Given the description of an element on the screen output the (x, y) to click on. 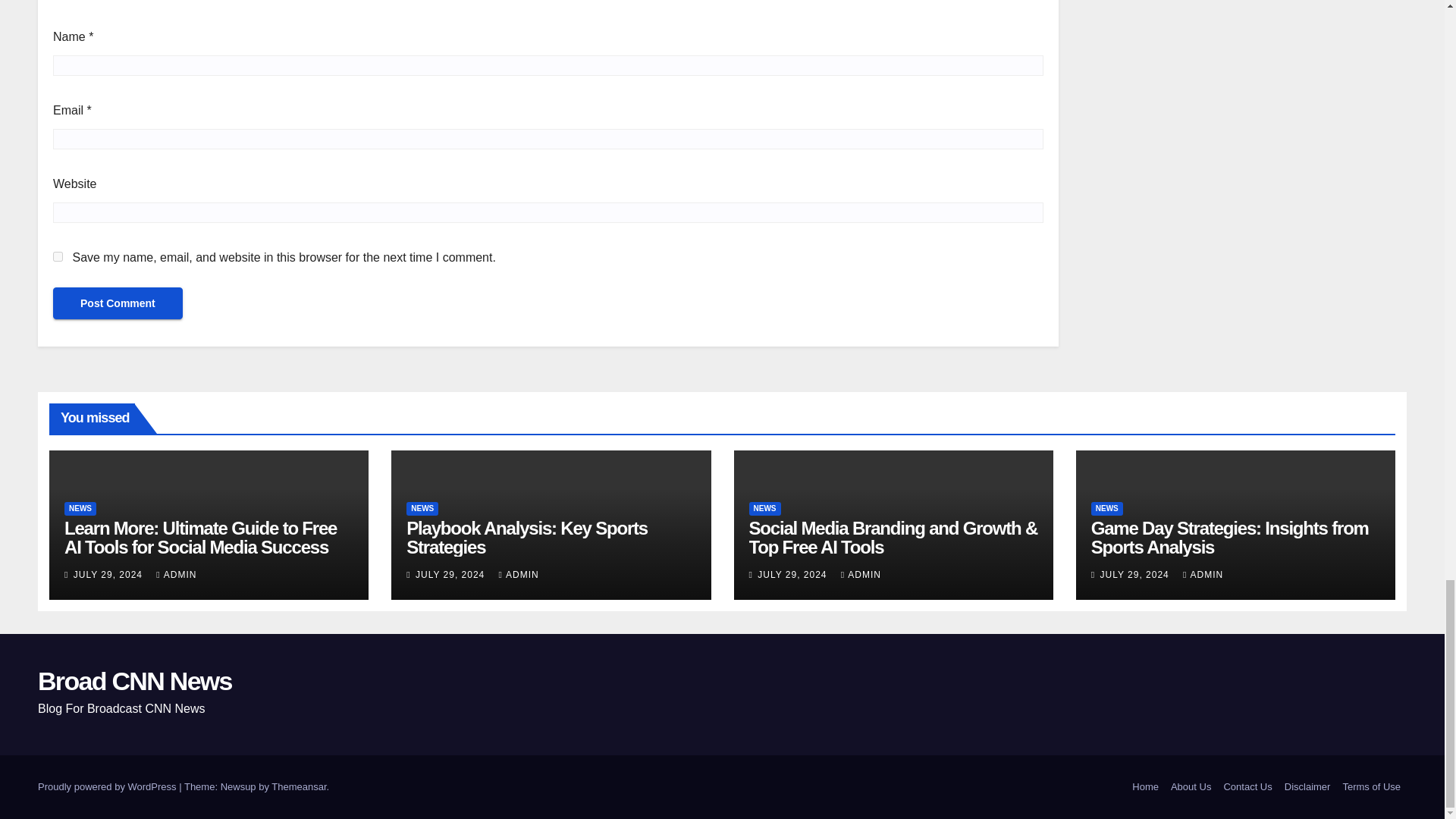
yes (57, 256)
Post Comment (117, 303)
